Given the description of an element on the screen output the (x, y) to click on. 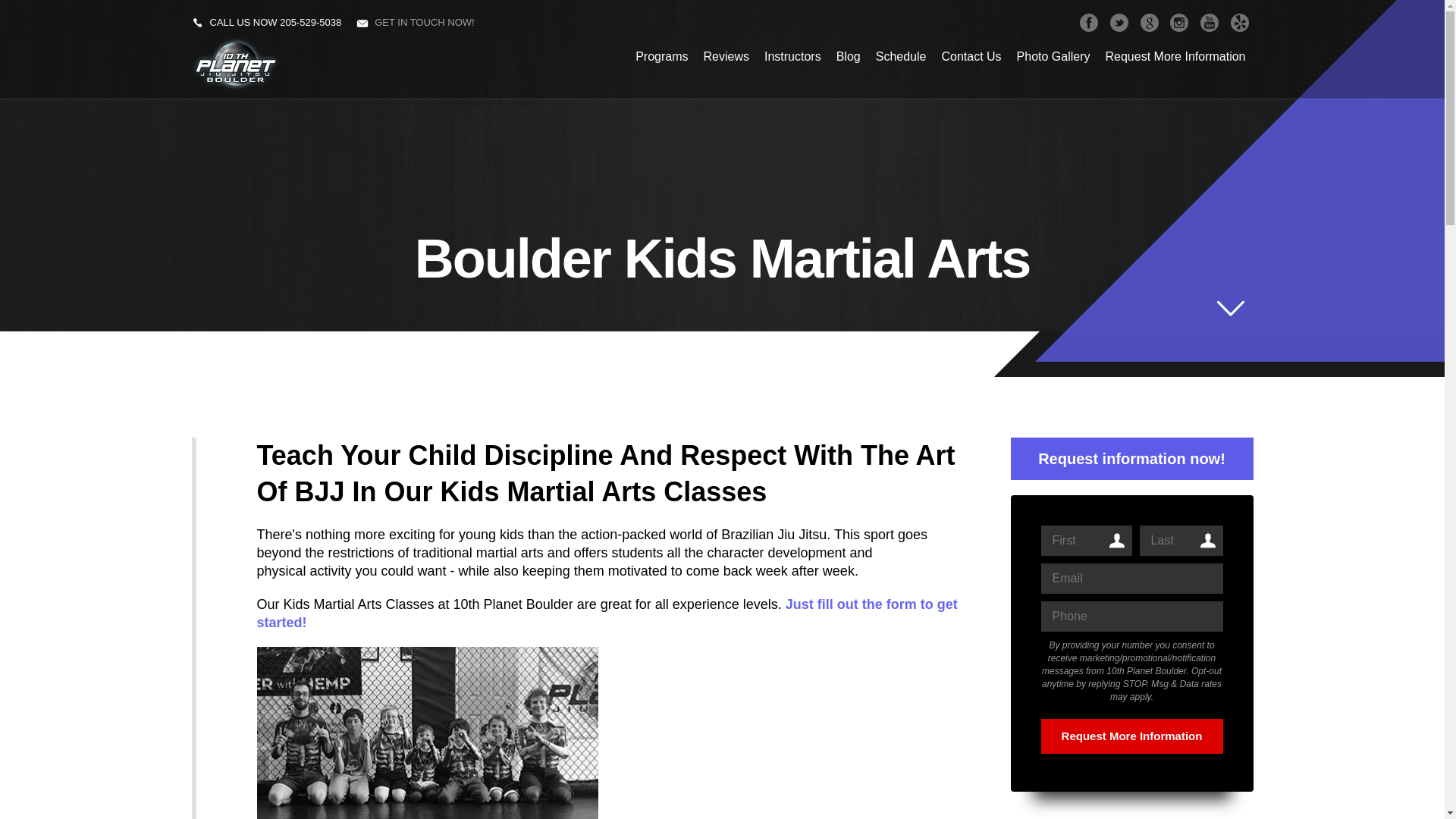
Photo Gallery Element type: text (1053, 56)
Request More Information Element type: text (1175, 56)
YOUTUBE Element type: text (1209, 22)
205-529-5038 Element type: text (310, 22)
Last Element type: hover (1180, 540)
INSTAGRAM Element type: text (1178, 22)
First Element type: hover (1085, 540)
Required Element type: hover (1131, 616)
GET IN TOUCH NOW! Element type: text (423, 22)
Contact Us Element type: text (970, 56)
Required Element type: hover (1131, 578)
Programs Element type: text (661, 56)
Request More Information Element type: text (1131, 735)
YELP Element type: text (1238, 22)
Blog Element type: text (848, 56)
Instructors Element type: text (792, 56)
Schedule Element type: text (901, 56)
GOOGLEPLUS Element type: text (1149, 22)
FACEBOOK Element type: text (1088, 22)
Reviews Element type: text (726, 56)
TWITTER Element type: text (1118, 22)
